Given the description of an element on the screen output the (x, y) to click on. 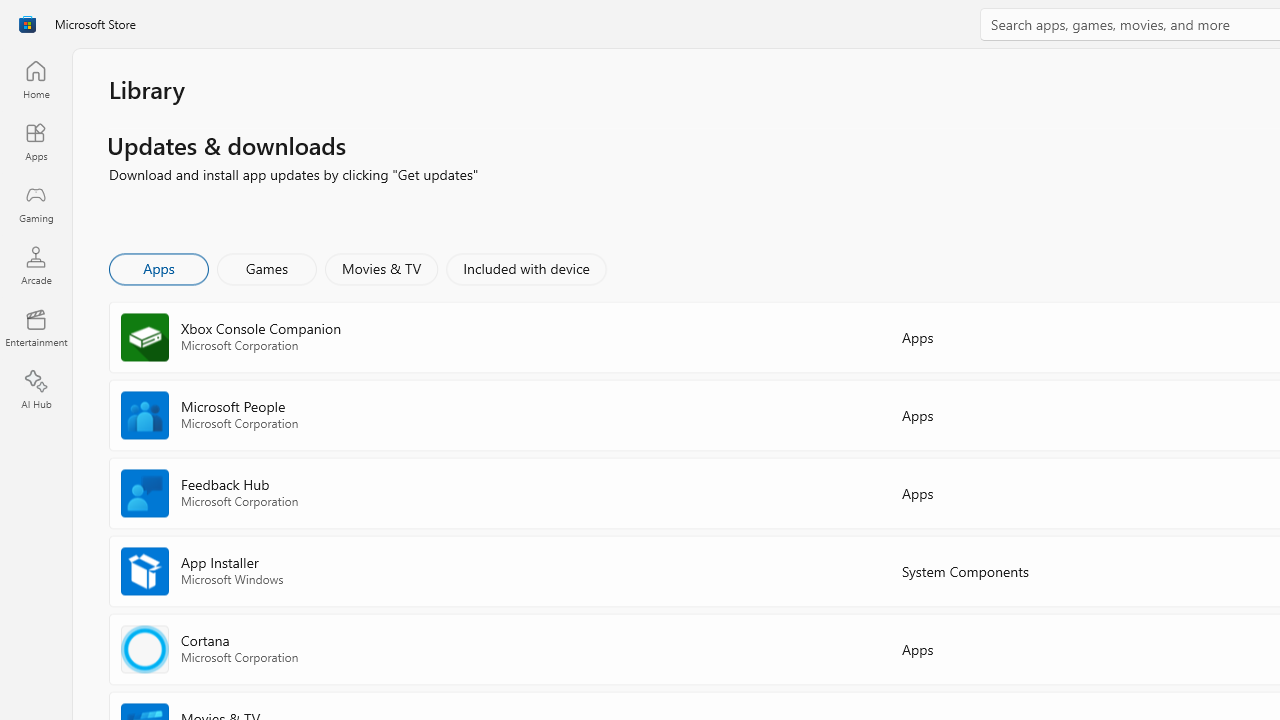
Movies & TV (381, 268)
Games (267, 268)
Apps (158, 268)
Arcade (35, 265)
Home (35, 79)
Class: Image (27, 24)
Entertainment (35, 327)
Included with device (525, 268)
AI Hub (35, 390)
Gaming (35, 203)
Apps (35, 141)
